Given the description of an element on the screen output the (x, y) to click on. 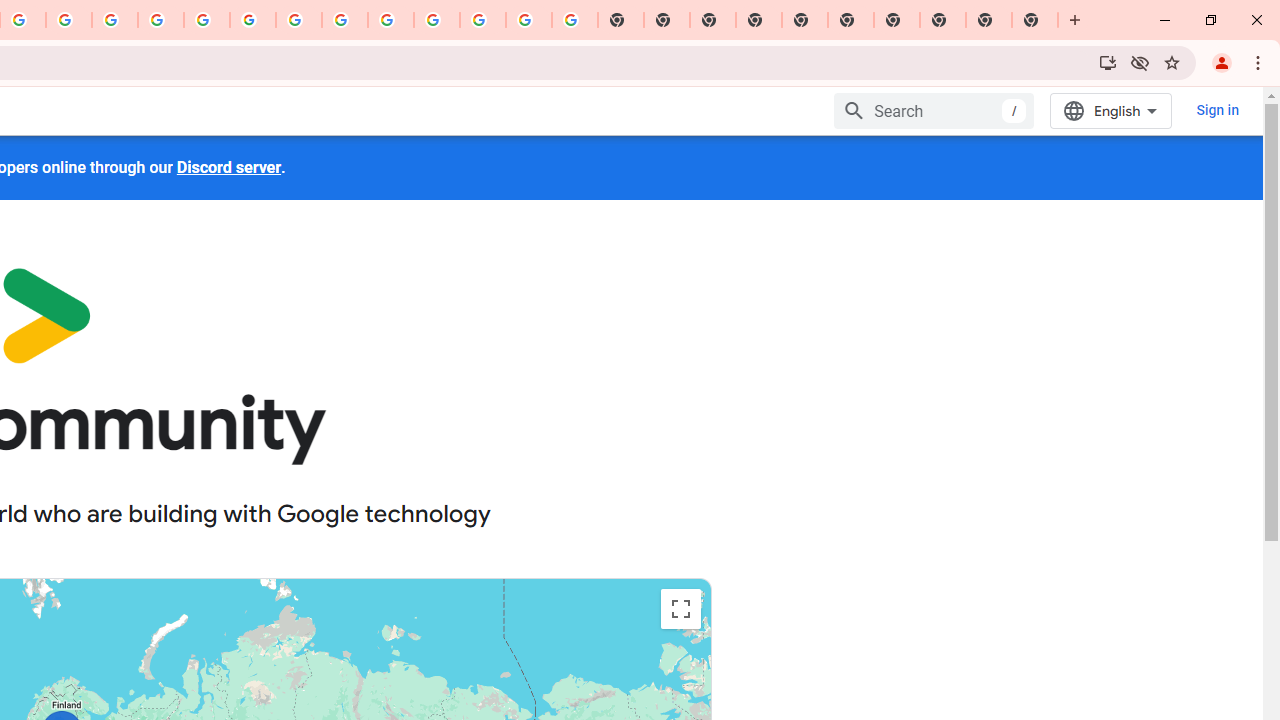
Search (934, 110)
Privacy Help Center - Policies Help (115, 20)
Install Google Developers (1107, 62)
New Tab (759, 20)
English (1110, 110)
Toggle fullscreen view (680, 608)
Privacy Help Center - Policies Help (161, 20)
